Given the description of an element on the screen output the (x, y) to click on. 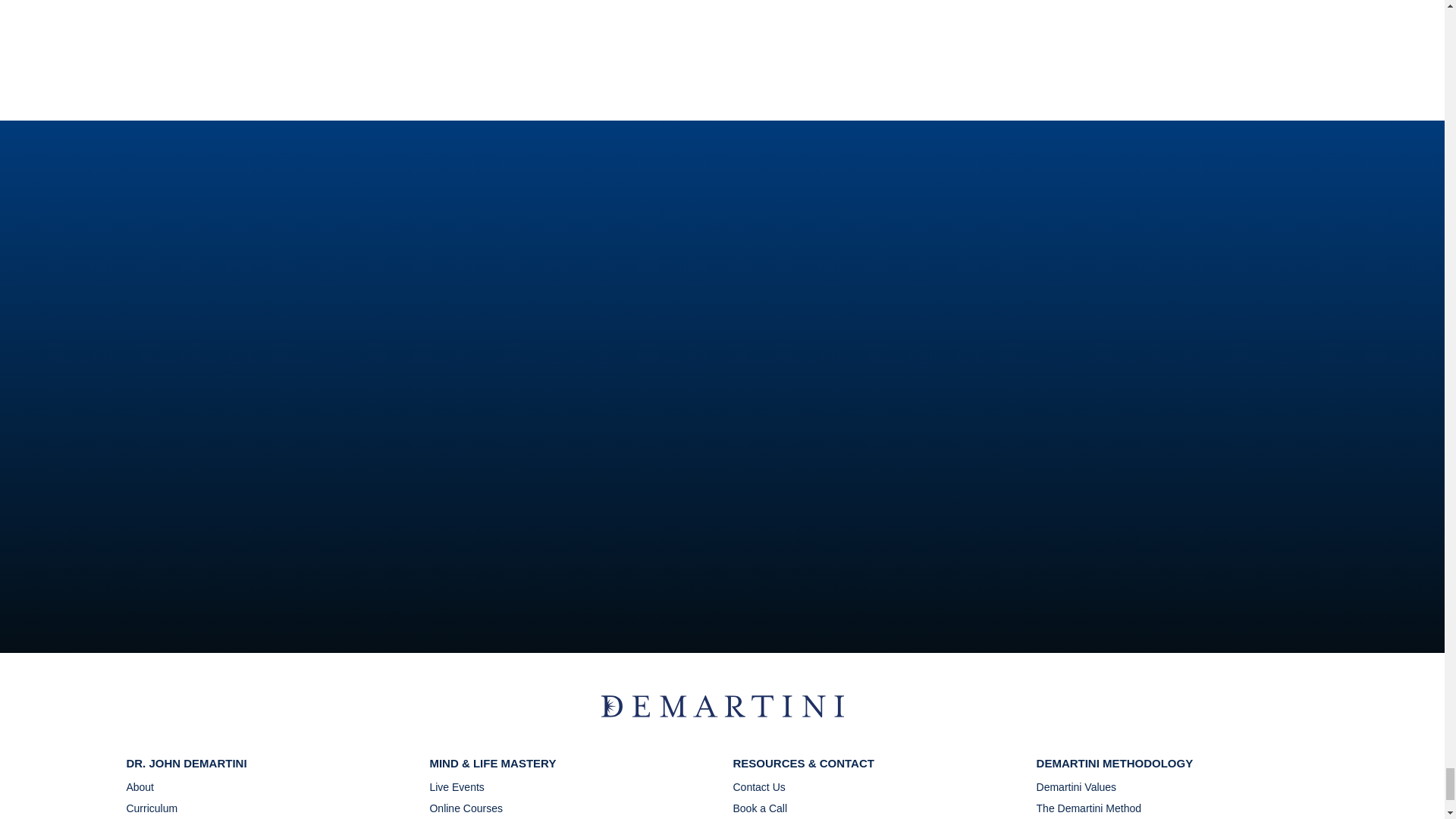
Online Courses (465, 808)
About (166, 789)
DR. JOHN DEMARTINI (185, 762)
Contact Us (771, 789)
Demartini Home (721, 712)
Live Events (465, 789)
Curriculum (166, 808)
Book a Call (771, 808)
